Given the description of an element on the screen output the (x, y) to click on. 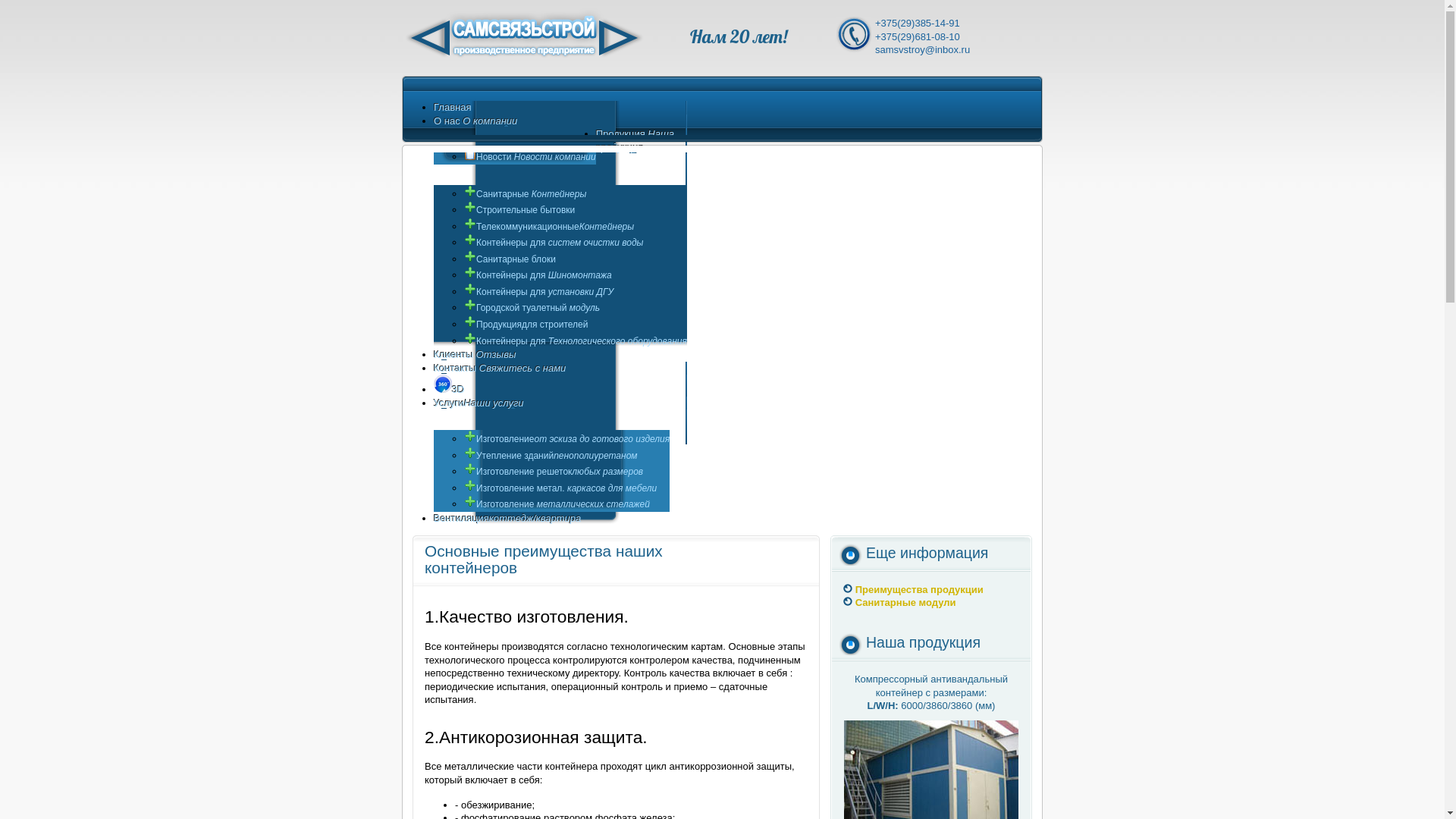
3D Element type: text (448, 389)
